Given the description of an element on the screen output the (x, y) to click on. 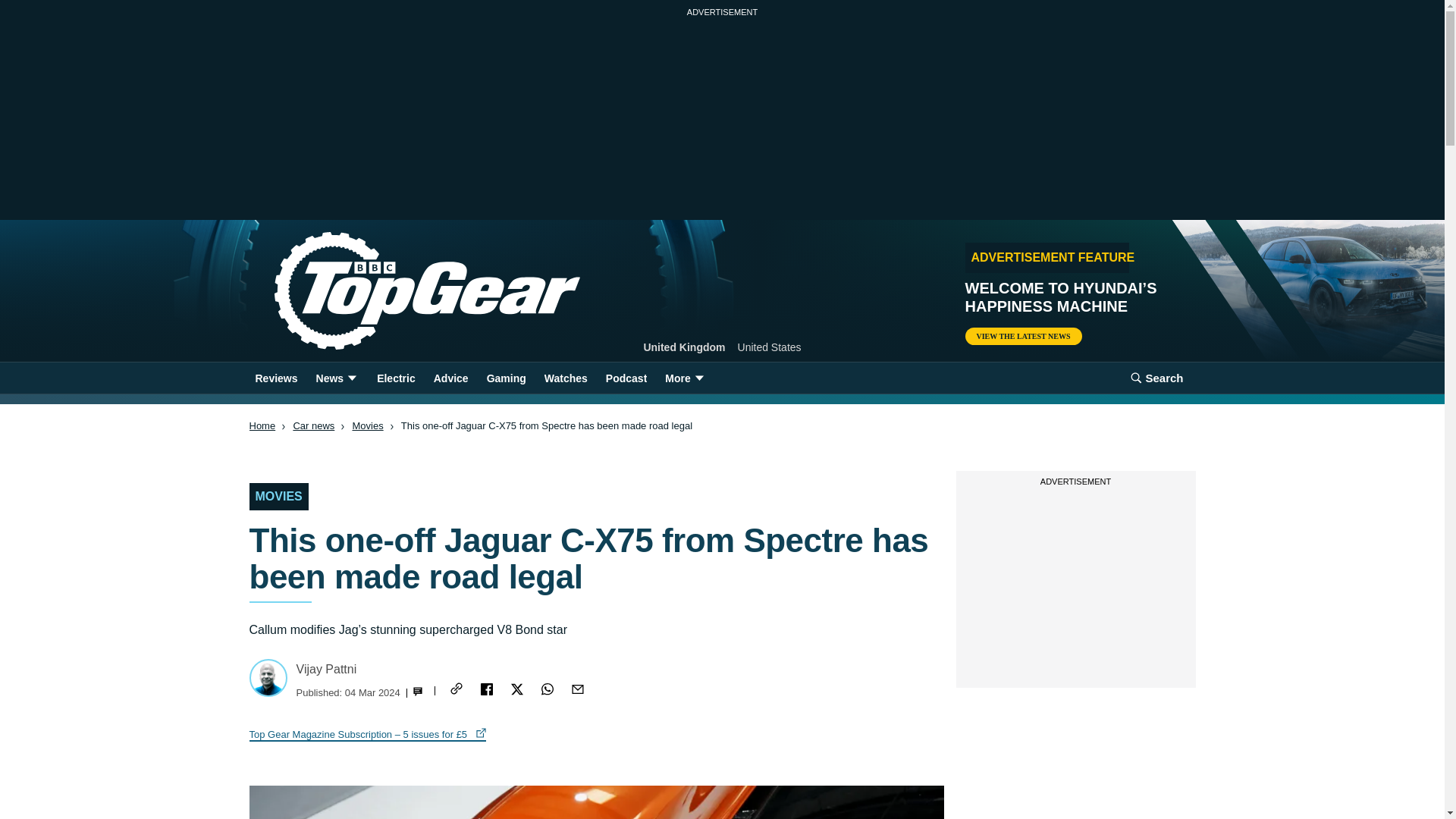
News (337, 377)
Car news (313, 425)
United States (770, 347)
Vijay Pattni (325, 669)
More (685, 377)
Gaming (506, 377)
Search (1156, 377)
Podcast (625, 377)
Advice (451, 377)
Reviews (275, 377)
Home (261, 425)
United Kingdom (684, 347)
Search (1156, 377)
Electric (396, 377)
Movies (367, 425)
